Given the description of an element on the screen output the (x, y) to click on. 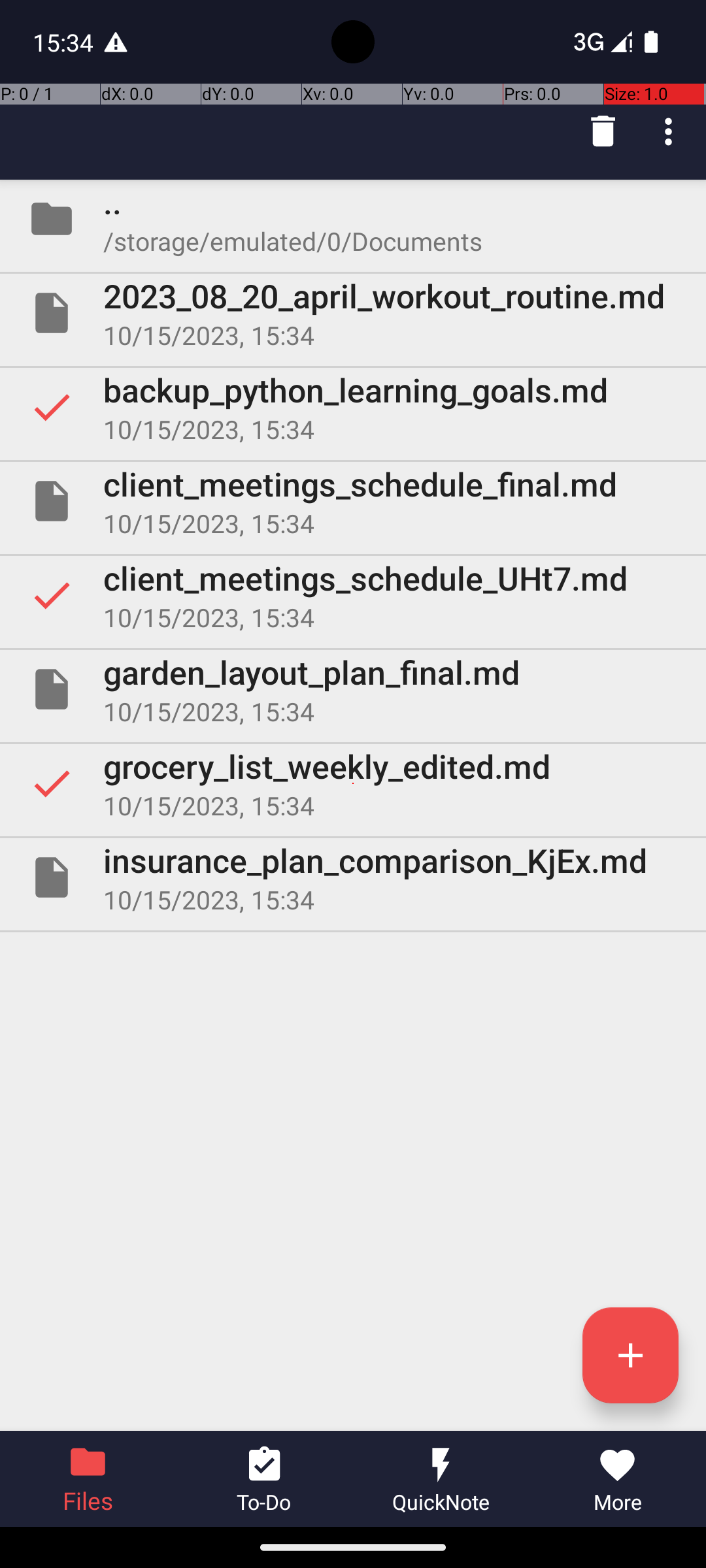
File 2023_08_20_april_workout_routine.md  Element type: android.widget.LinearLayout (353, 312)
Selected backup_python_learning_goals.md  Element type: android.widget.LinearLayout (353, 406)
File client_meetings_schedule_final.md  Element type: android.widget.LinearLayout (353, 500)
Selected client_meetings_schedule_UHt7.md 10/15/2023, 15:34 Element type: android.widget.LinearLayout (353, 594)
File garden_layout_plan_final.md  Element type: android.widget.LinearLayout (353, 689)
Selected grocery_list_weekly_edited.md 10/15/2023, 15:34 Element type: android.widget.LinearLayout (353, 783)
File insurance_plan_comparison_KjEx.md  Element type: android.widget.LinearLayout (353, 877)
